Given the description of an element on the screen output the (x, y) to click on. 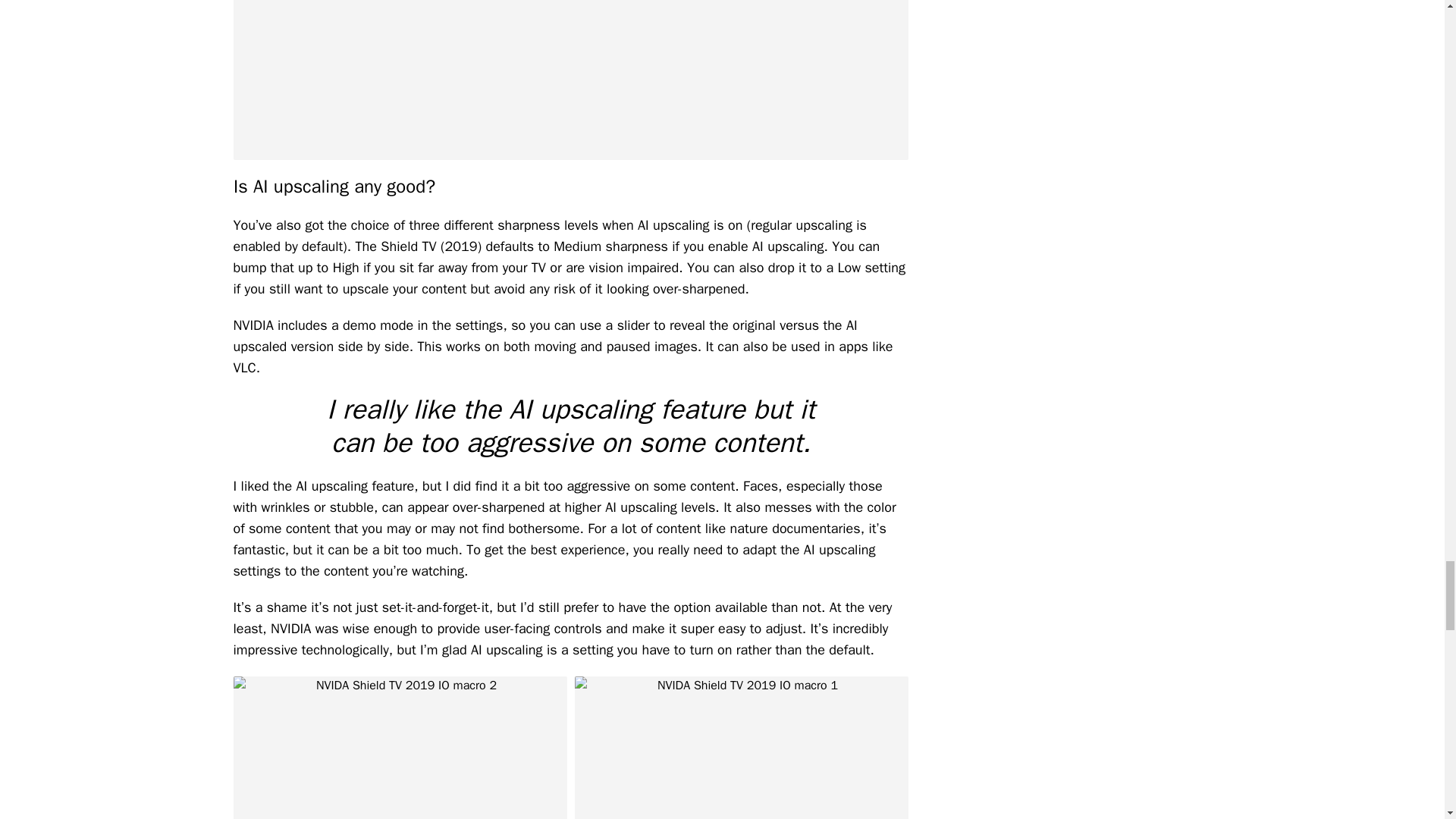
NVIDIA Shield TV AI upscaling settings (570, 79)
NVIDA Shield TV 2019 IO macro 2 (399, 747)
NVIDA Shield TV 2019 IO macro 1 (741, 747)
